Given the description of an element on the screen output the (x, y) to click on. 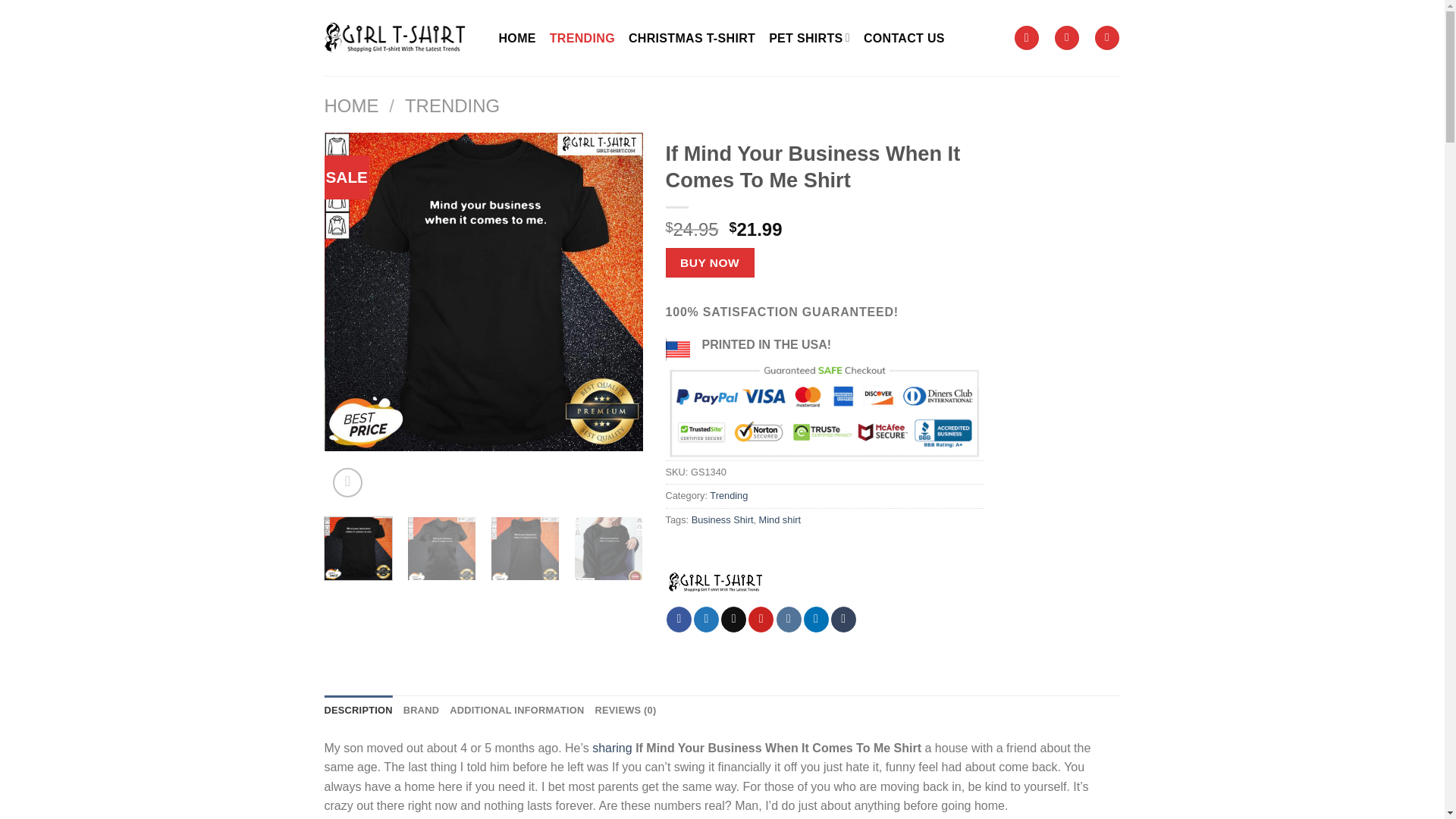
BUY NOW (709, 262)
Business Shirt (722, 519)
CHRISTMAS T-SHIRT (691, 37)
Share on Twitter (706, 619)
Pin on Pinterest (760, 619)
HOME (351, 105)
Girl T-shirt (714, 578)
Mind shirt (779, 519)
If Mind Your Business When It Comes To Me Shirt (483, 291)
HOME (517, 37)
Share on LinkedIn (815, 619)
PET SHIRTS (809, 37)
Trending (729, 495)
TRENDING (582, 37)
Girl T-shirt - Shopping Girl T-shirt With The Latest Trends (400, 37)
